Given the description of an element on the screen output the (x, y) to click on. 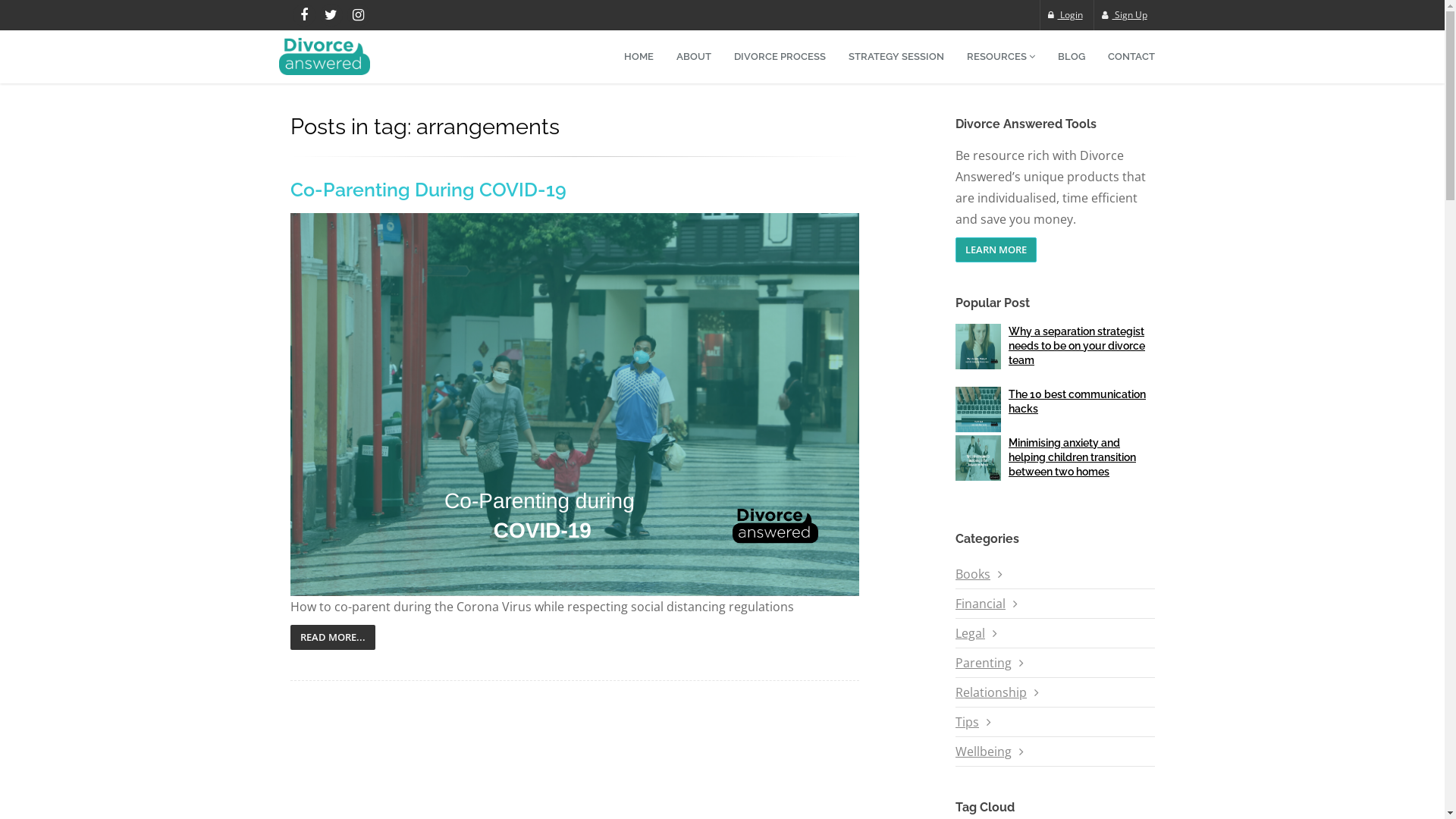
ABOUT Element type: text (692, 56)
Tips Element type: text (967, 721)
RESOURCES Element type: text (1000, 56)
Co-Parenting During COVID-19 Element type: text (427, 189)
STRATEGY SESSION Element type: text (896, 56)
LEARN MORE Element type: text (995, 249)
BLOG Element type: text (1071, 56)
Books Element type: text (972, 573)
Login Element type: text (1065, 14)
HOME Element type: text (638, 56)
Financial Element type: text (980, 603)
Wellbeing Element type: text (983, 751)
Relationship Element type: text (990, 692)
CONTACT Element type: text (1131, 56)
DIVORCE PROCESS Element type: text (778, 56)
The 10 best communication hacks Element type: text (1076, 401)
Sign Up Element type: text (1123, 14)
Parenting Element type: text (983, 662)
Why a separation strategist needs to be on your divorce team Element type: text (1076, 345)
Legal Element type: text (970, 632)
READ MORE... Element type: text (331, 636)
